Given the description of an element on the screen output the (x, y) to click on. 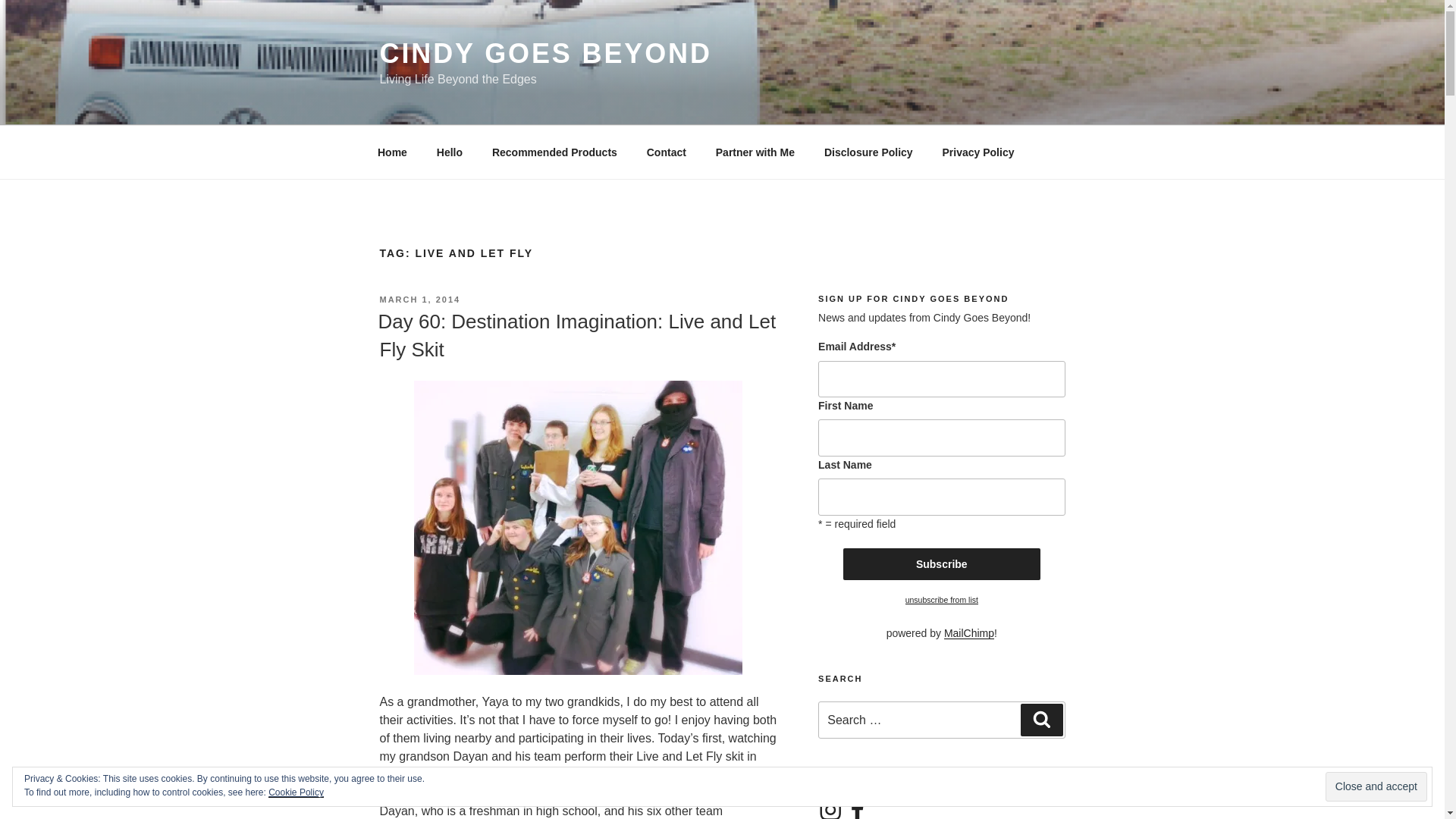
Facebook (857, 808)
Subscribe (942, 563)
Hello (449, 151)
Close and accept (1375, 786)
Partner with Me (754, 151)
Instagram (830, 808)
Contact (665, 151)
Recommended Products (554, 151)
MailChimp (968, 633)
Subscribe (942, 563)
